Given the description of an element on the screen output the (x, y) to click on. 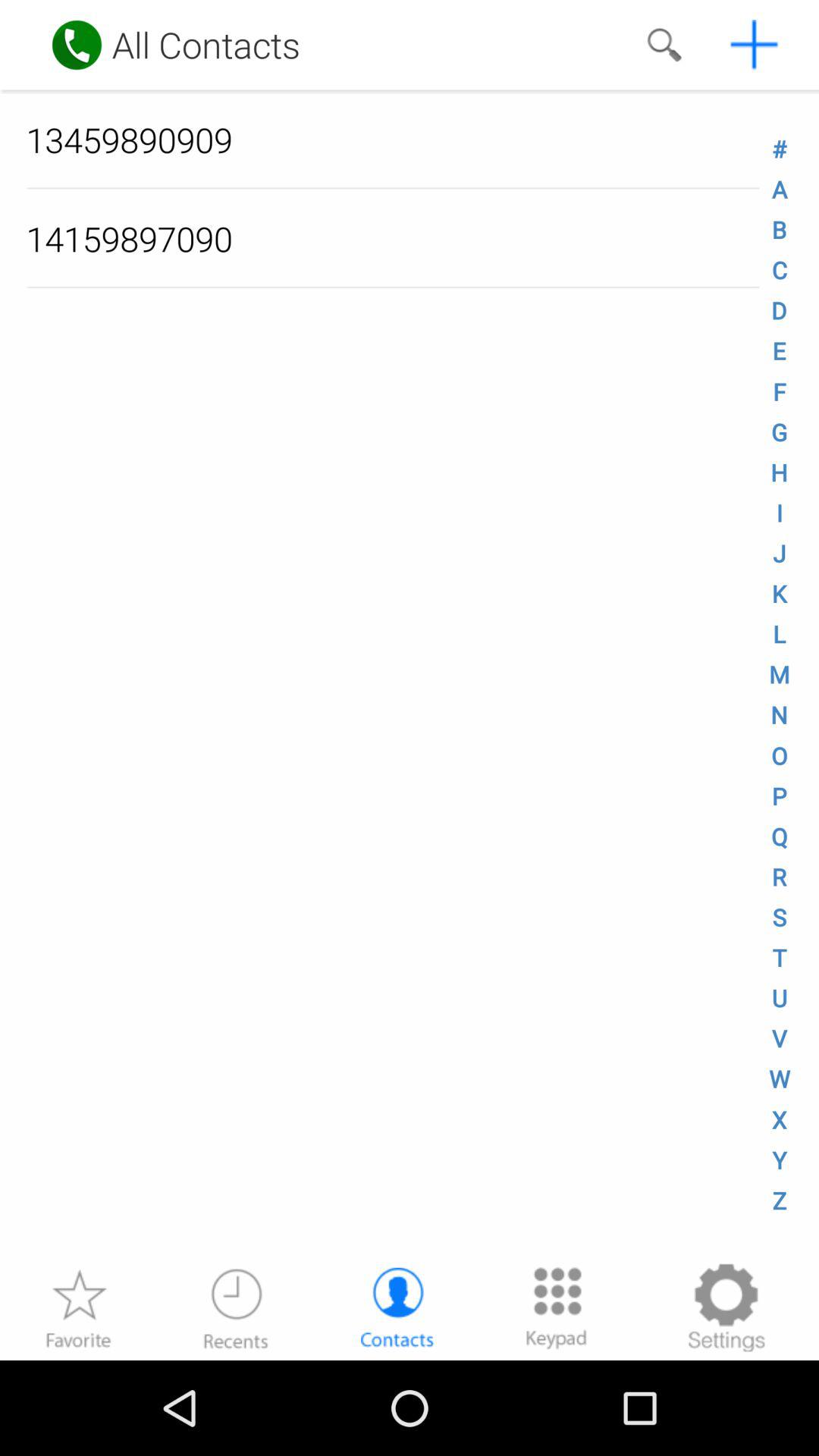
go to favorites (78, 1307)
